Given the description of an element on the screen output the (x, y) to click on. 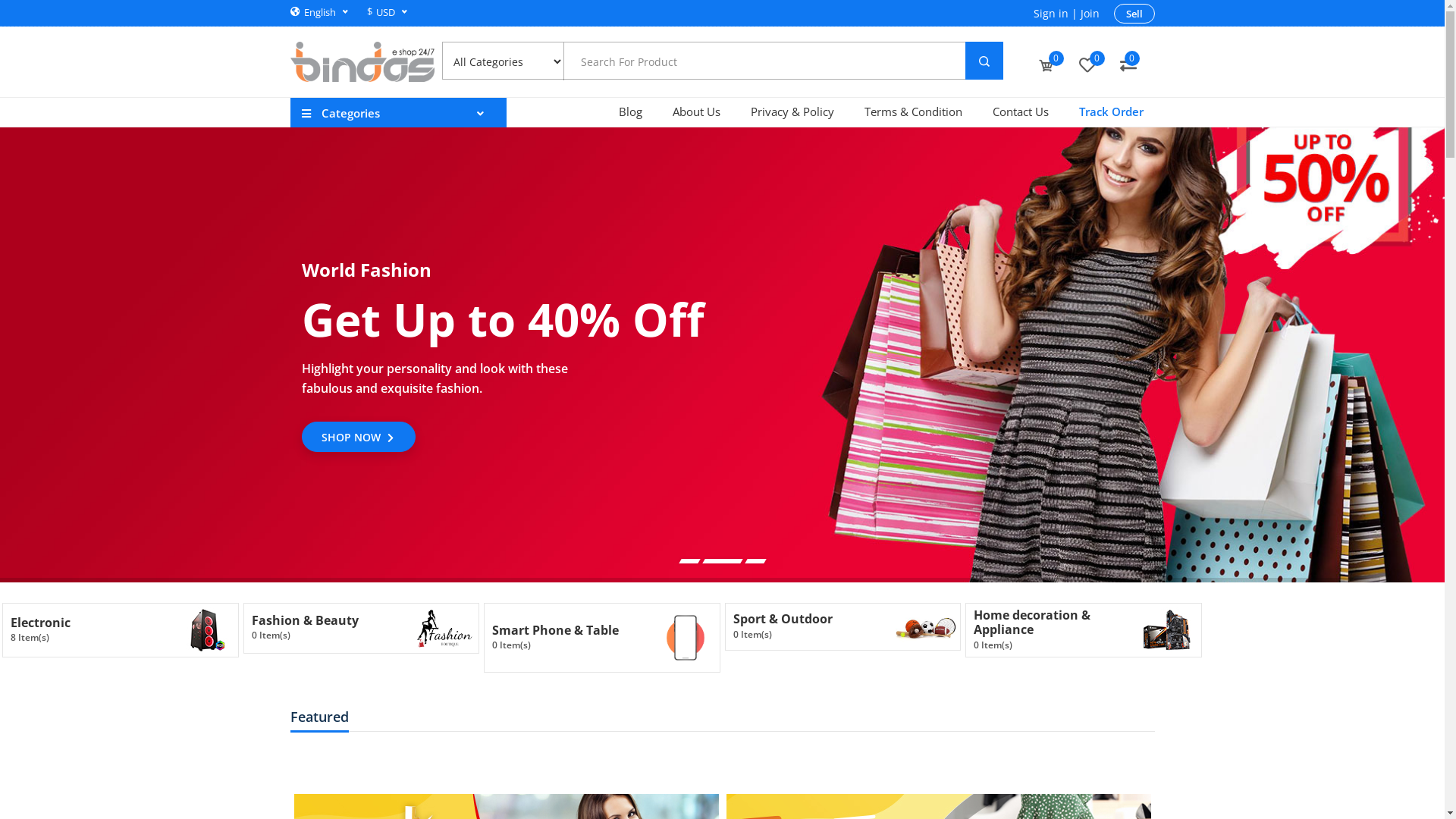
About Us Element type: text (695, 112)
SHOP NOW Element type: text (358, 436)
Privacy & Policy Element type: text (792, 112)
Sign in | Join Element type: text (1065, 13)
Home decoration & Appliance
0 Item(s) Element type: text (1083, 629)
Terms & Condition Element type: text (913, 112)
Smart Phone & Table
0 Item(s) Element type: text (601, 637)
Contact Us Element type: text (1019, 112)
Fashion & Beauty
0 Item(s) Element type: text (360, 627)
Sell Element type: text (1133, 13)
Blog Element type: text (630, 112)
0 Element type: text (1045, 65)
Electronic
8 Item(s) Element type: text (120, 629)
Sport & Outdoor
0 Item(s) Element type: text (842, 626)
0 Element type: text (1086, 65)
Track Order Element type: text (1102, 112)
0 Element type: text (1127, 65)
